Given the description of an element on the screen output the (x, y) to click on. 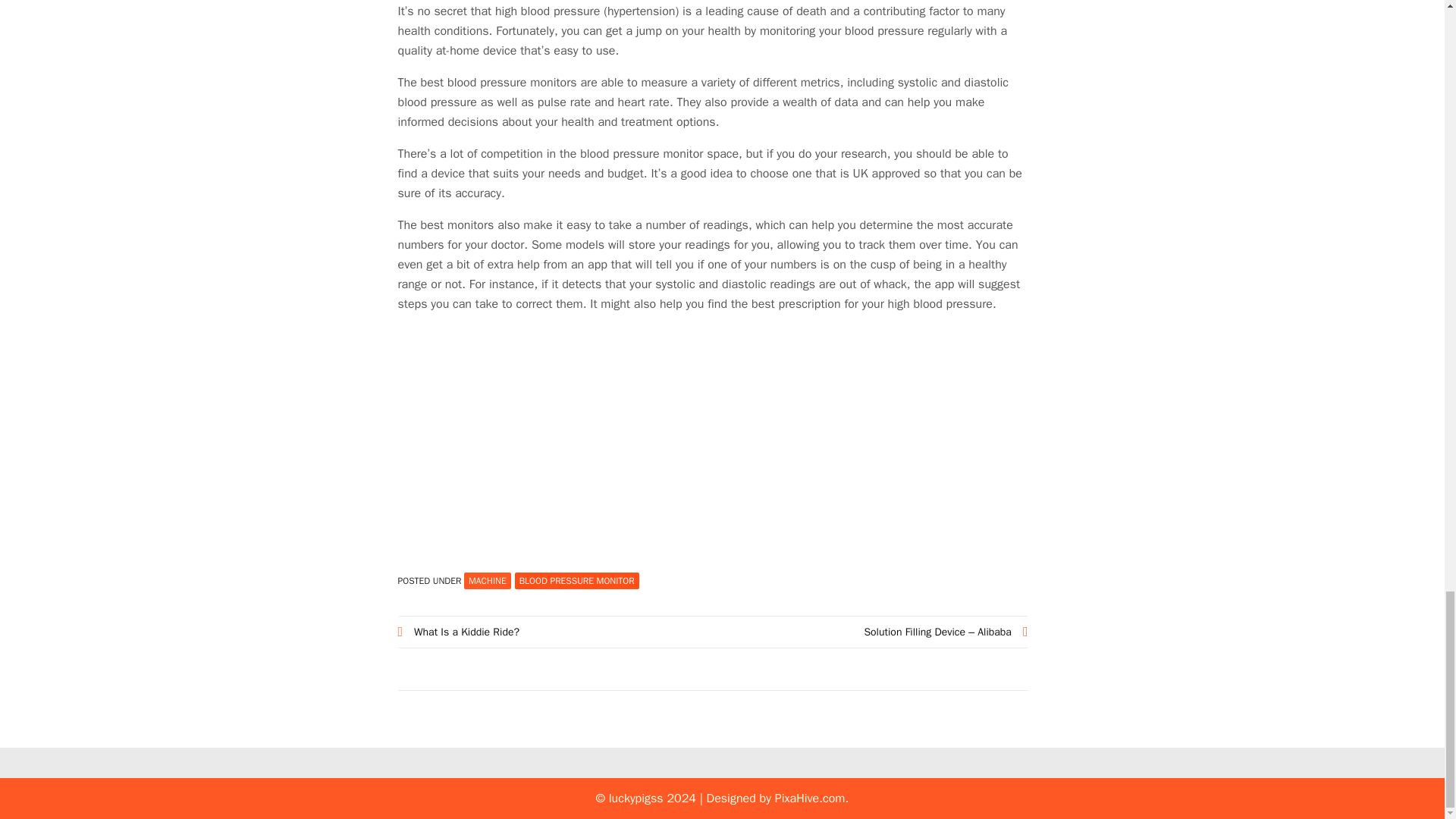
BLOOD PRESSURE MONITOR (577, 580)
What Is a Kiddie Ride? (555, 631)
MACHINE (487, 580)
PixaHive.com (809, 798)
